Given the description of an element on the screen output the (x, y) to click on. 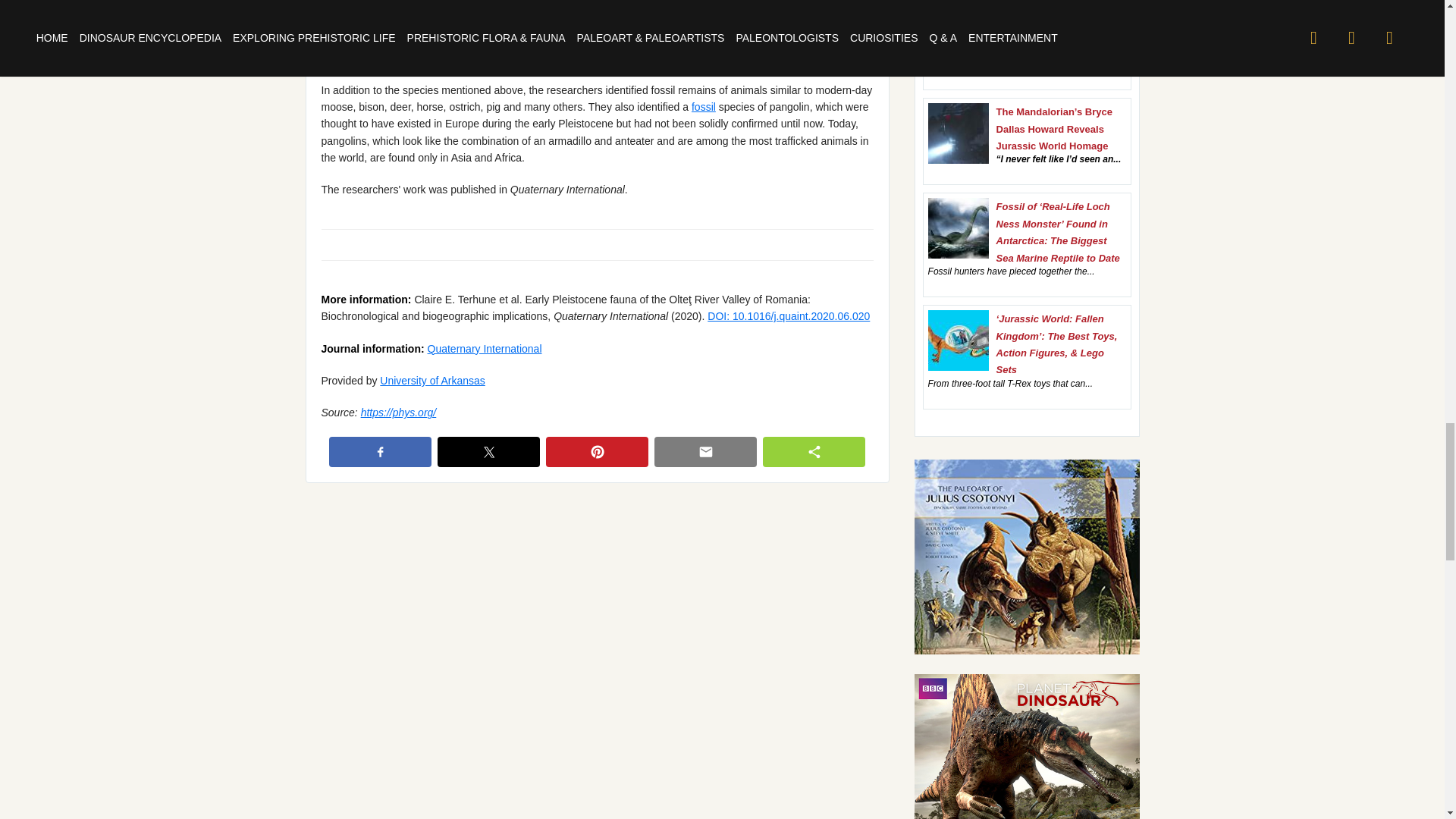
Quaternary International (484, 348)
fossil (703, 106)
University of Arkansas (432, 380)
